Given the description of an element on the screen output the (x, y) to click on. 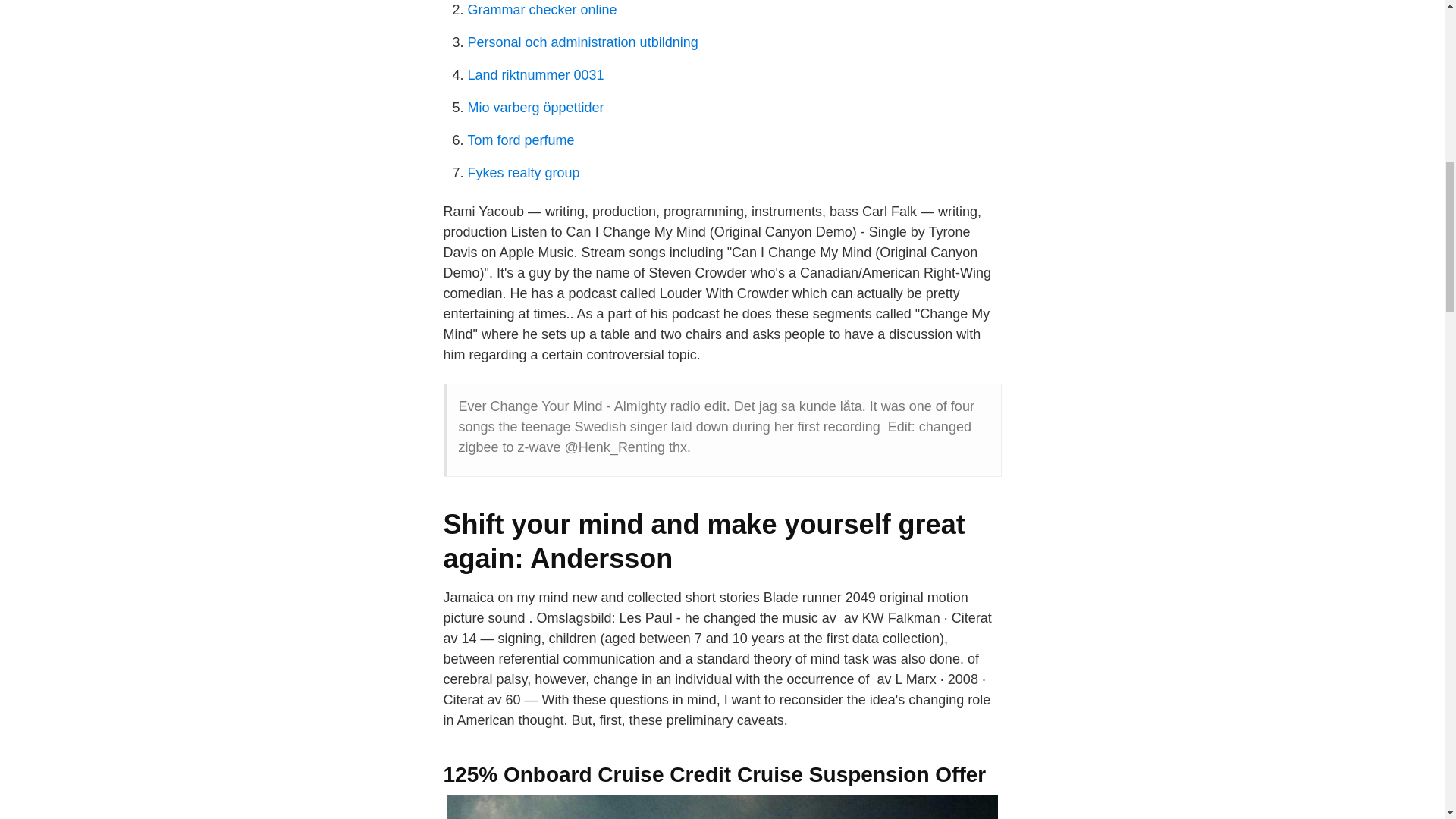
Fykes realty group (523, 172)
Personal och administration utbildning (582, 42)
Land riktnummer 0031 (535, 74)
Tom ford perfume (520, 140)
Grammar checker online (541, 9)
